Given the description of an element on the screen output the (x, y) to click on. 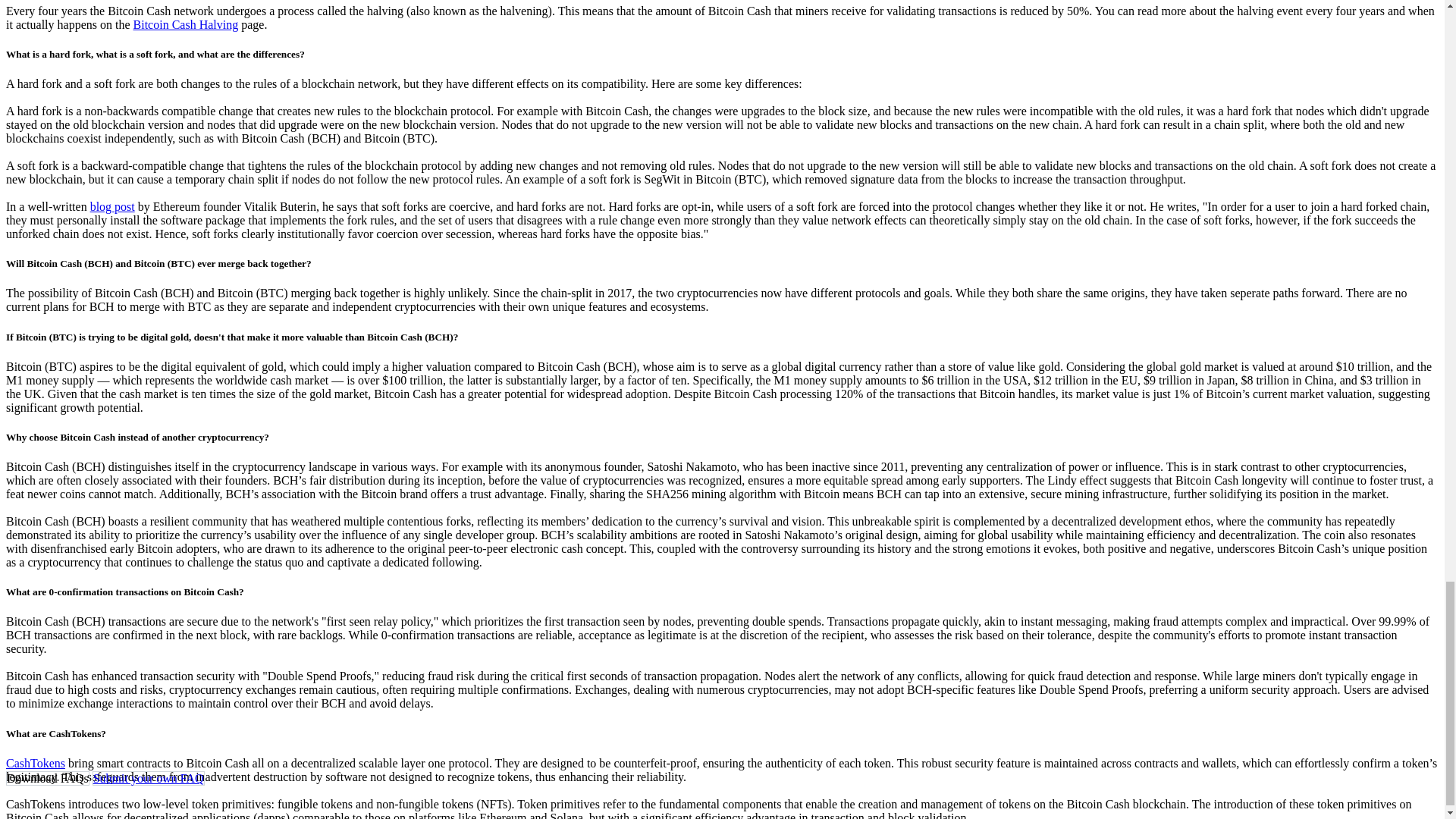
blog post (112, 205)
CashTokens (35, 762)
Bitcoin Cash Halving (185, 24)
Submit your own FAQ (149, 778)
